Given the description of an element on the screen output the (x, y) to click on. 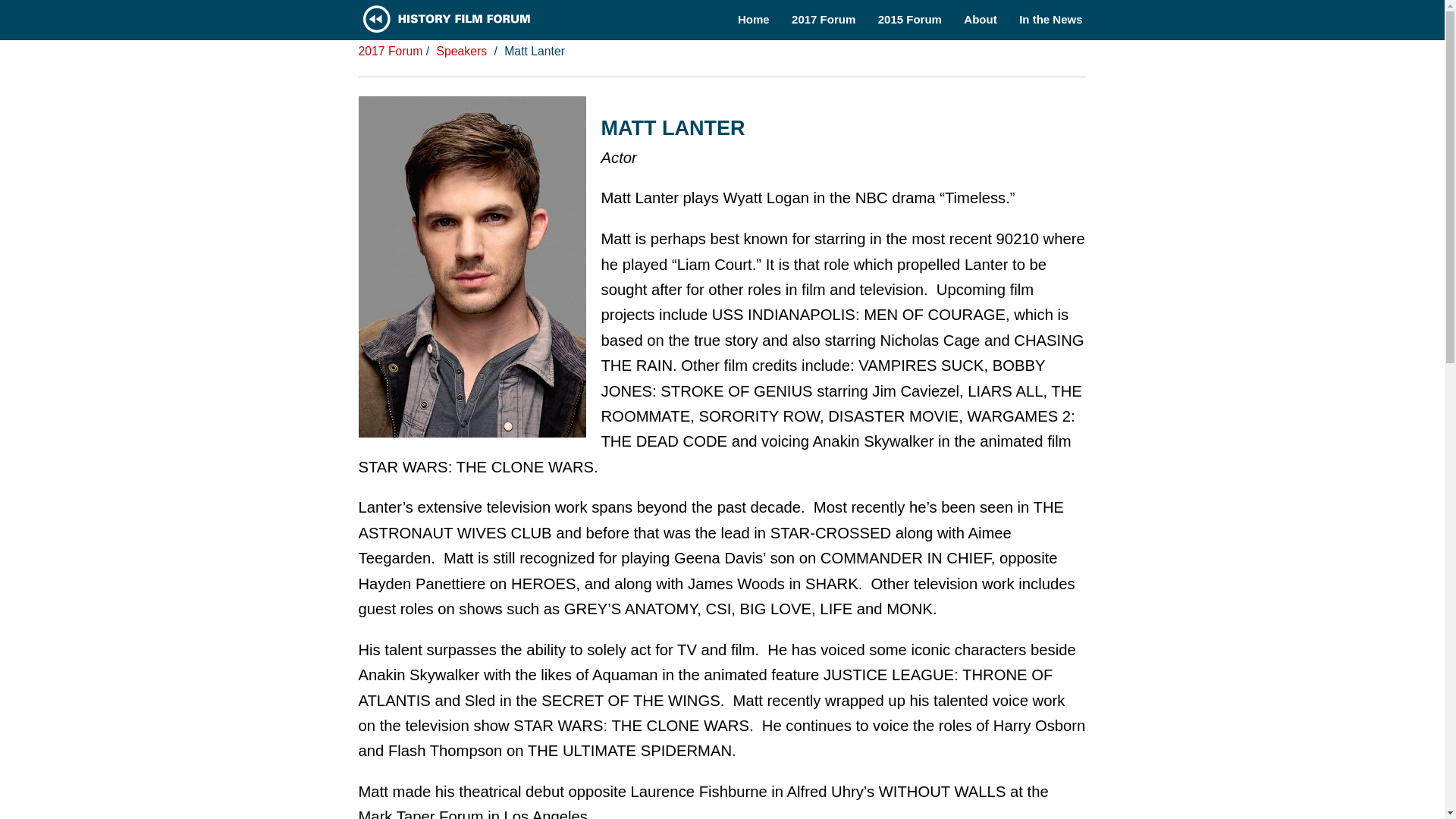
In the News (1050, 19)
About (979, 19)
2017 Forum (390, 51)
Home (754, 19)
Speakers (461, 51)
2015 Forum (909, 19)
2017 Forum (824, 19)
